Given the description of an element on the screen output the (x, y) to click on. 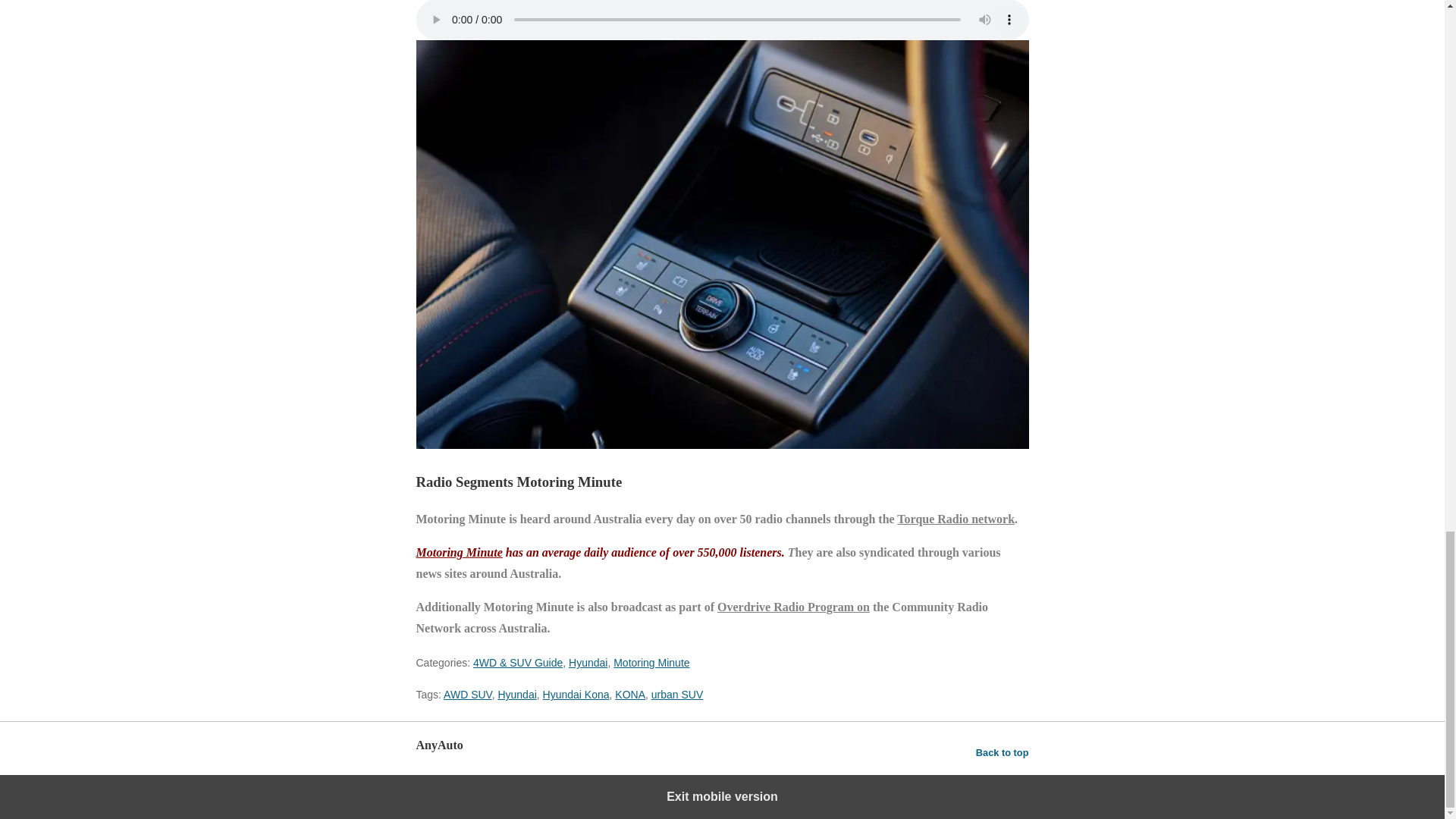
Overdrive Radio Program on (793, 606)
Hyundai (516, 694)
Motoring Minute (458, 552)
urban SUV (676, 694)
KONA (629, 694)
Back to top (1002, 752)
Hyundai Kona (576, 694)
Hyundai (588, 662)
Motoring Minute (650, 662)
AWD SUV (468, 694)
Torque Radio network (955, 518)
